Given the description of an element on the screen output the (x, y) to click on. 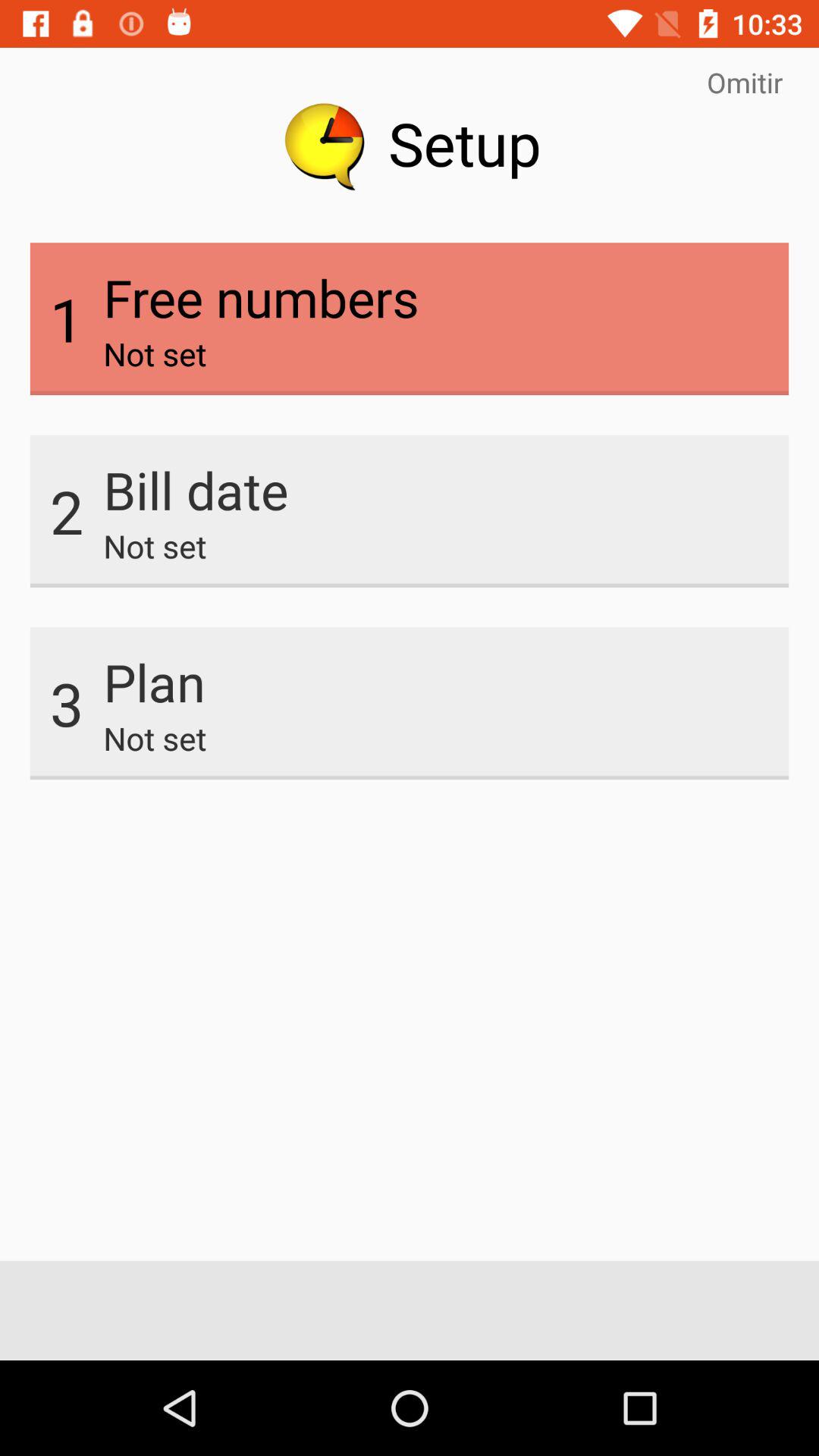
swipe to omitir (744, 82)
